Given the description of an element on the screen output the (x, y) to click on. 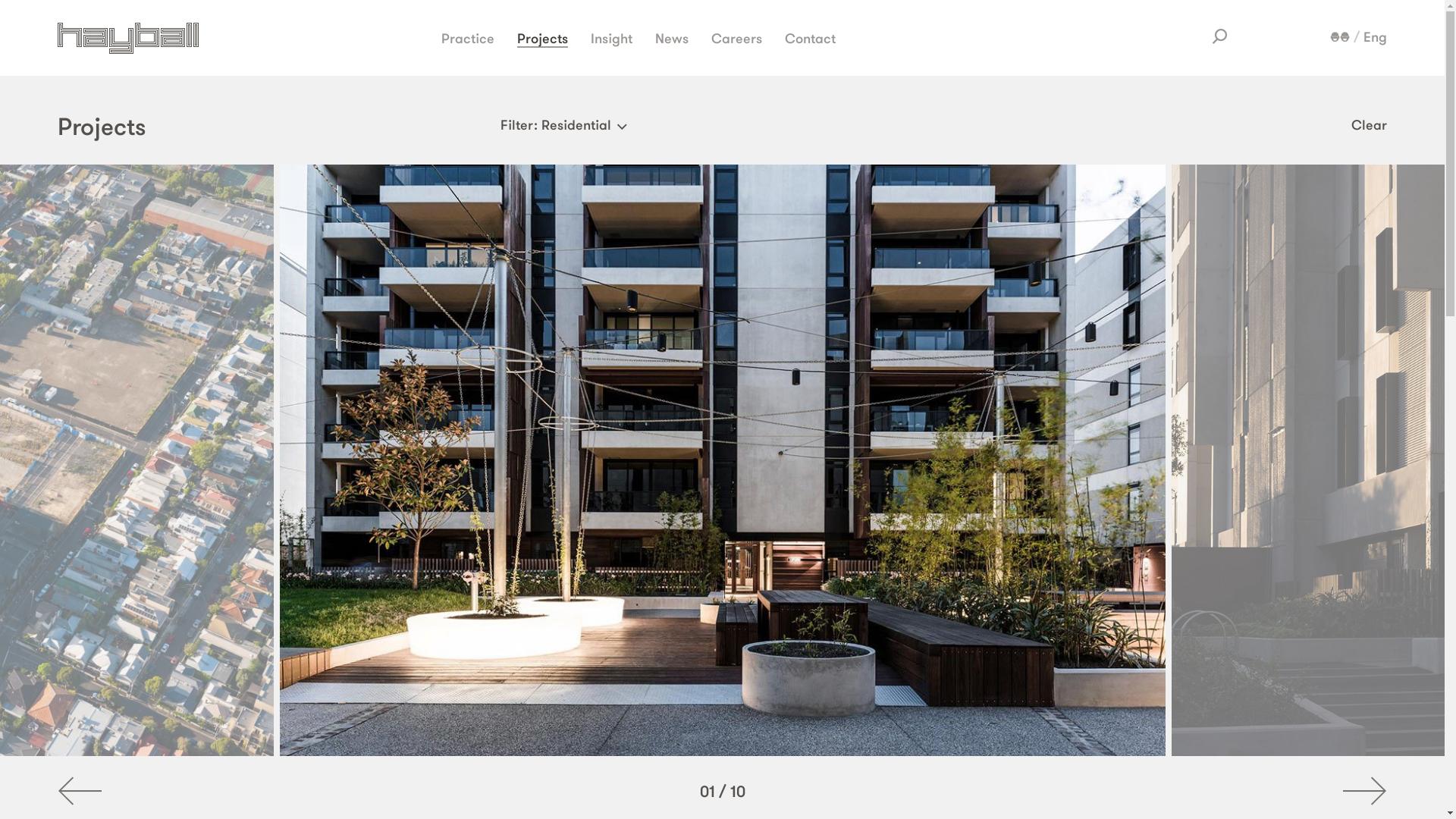
News Element type: text (671, 37)
Clear Element type: text (1368, 124)
Insight Element type: text (611, 37)
Contact Element type: text (809, 37)
Projects Element type: text (542, 37)
Practice Element type: text (467, 37)
Careers Element type: text (736, 37)
Eng Element type: text (1374, 36)
